Given the description of an element on the screen output the (x, y) to click on. 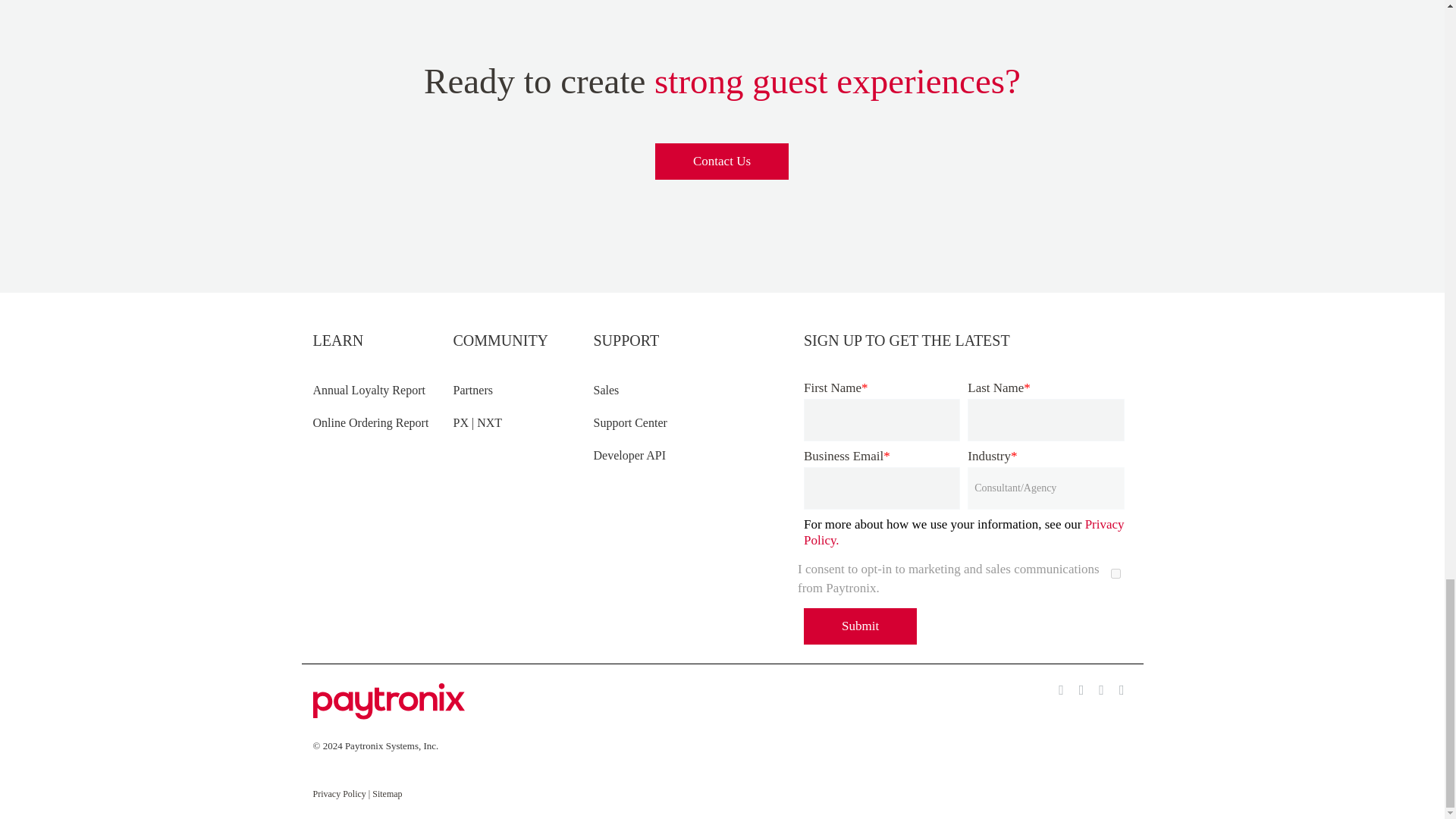
true (1114, 573)
Submit (860, 626)
